Given the description of an element on the screen output the (x, y) to click on. 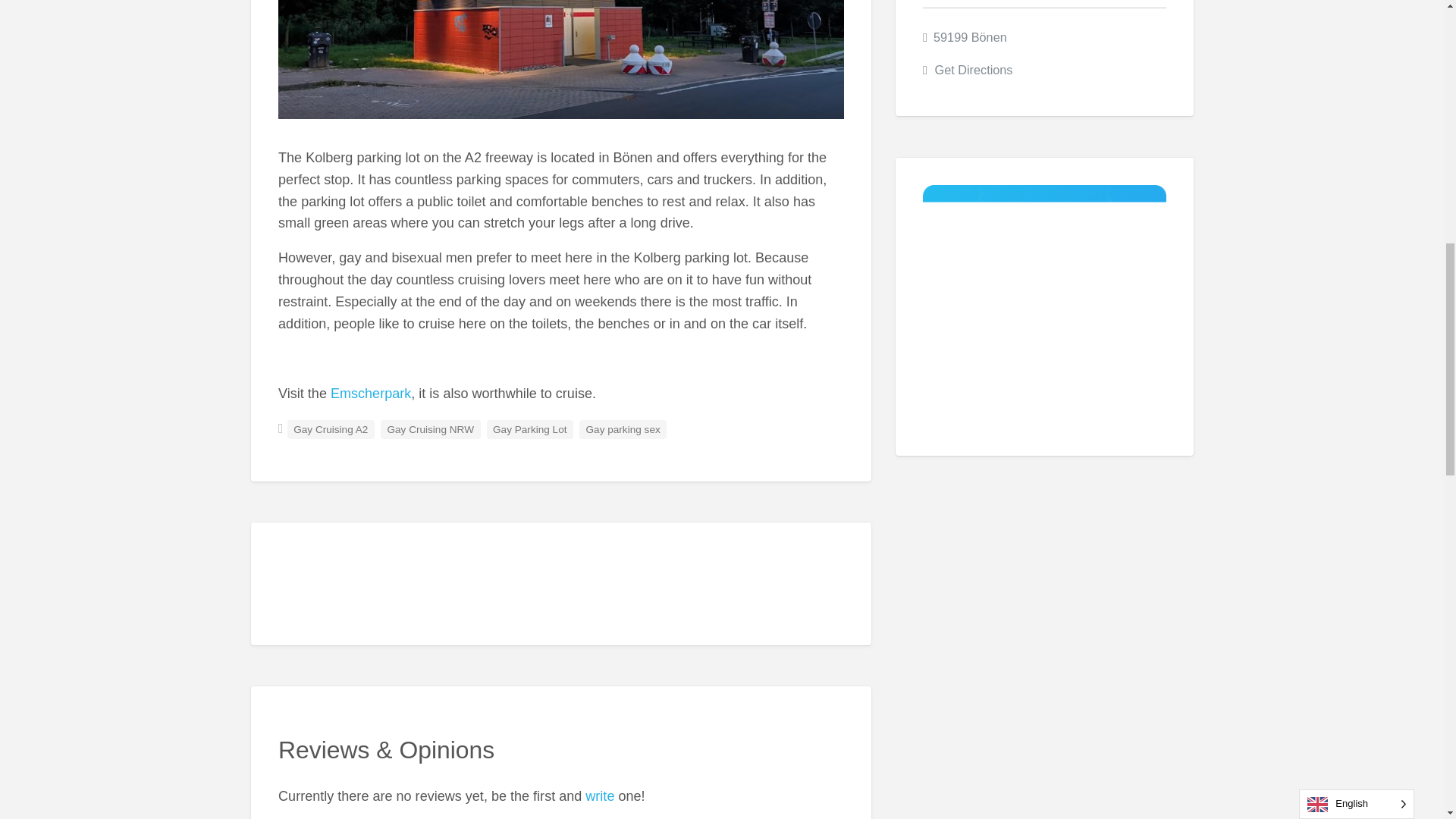
Emscherpark (370, 393)
